Given the description of an element on the screen output the (x, y) to click on. 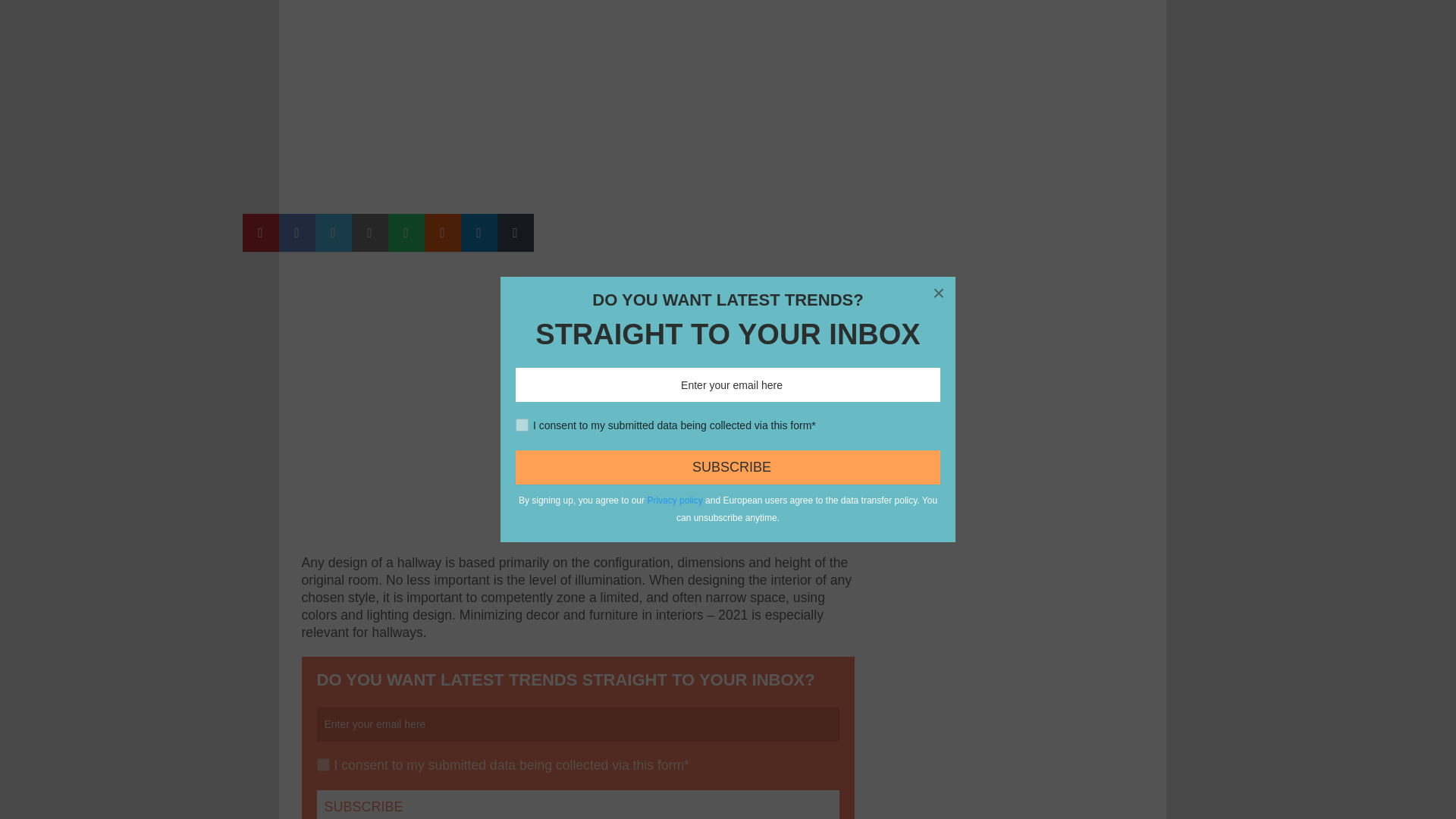
Subscribe (578, 804)
